Given the description of an element on the screen output the (x, y) to click on. 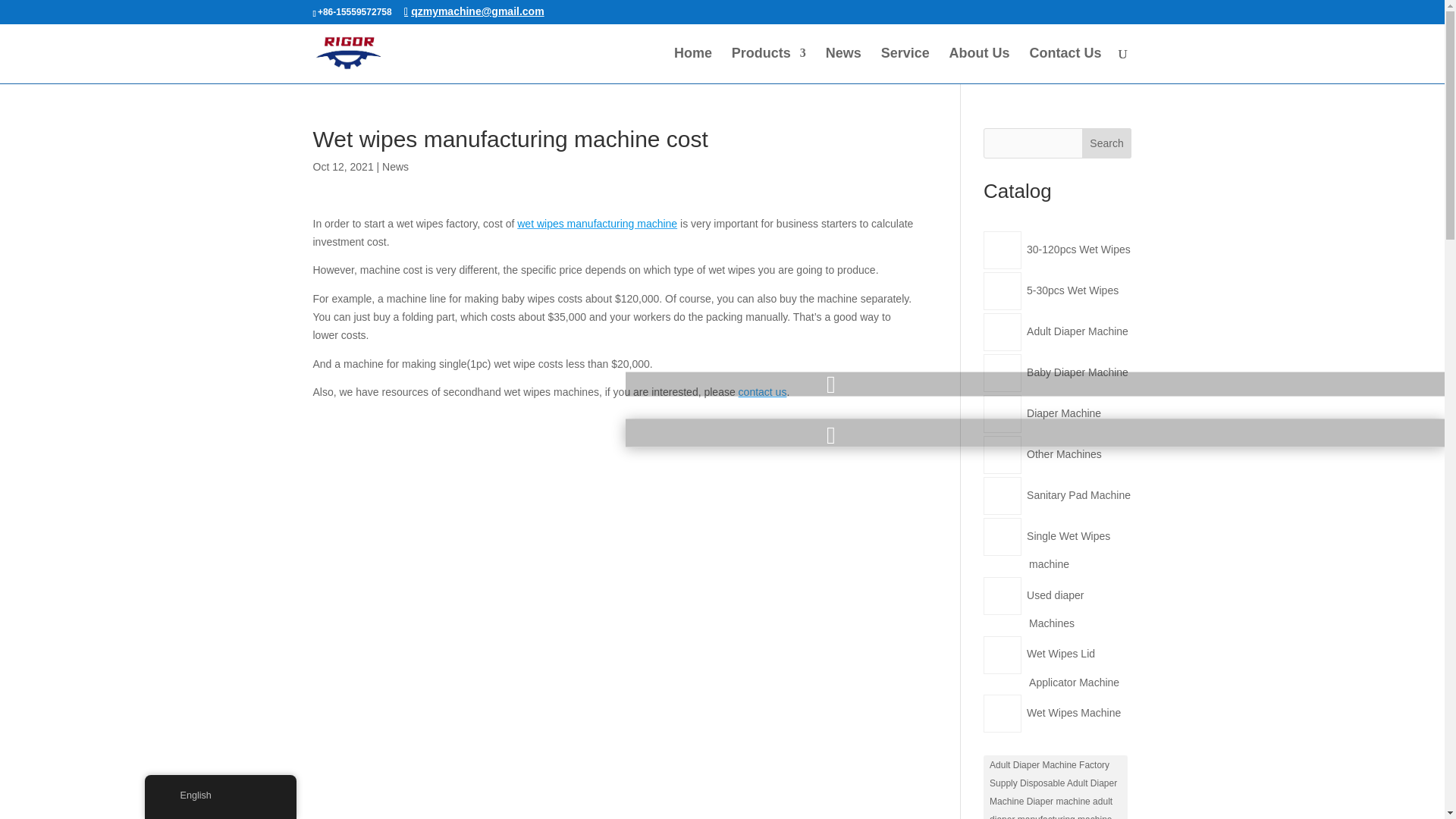
Contact Us (1064, 65)
News (395, 166)
5-30pcs Wet Wipes (1073, 290)
Products (769, 65)
Home (692, 65)
Used diaper Machines (1056, 608)
Other Machines (1065, 453)
Wet Wipes Lid Applicator Machine (1074, 667)
contact us (762, 391)
